Given the description of an element on the screen output the (x, y) to click on. 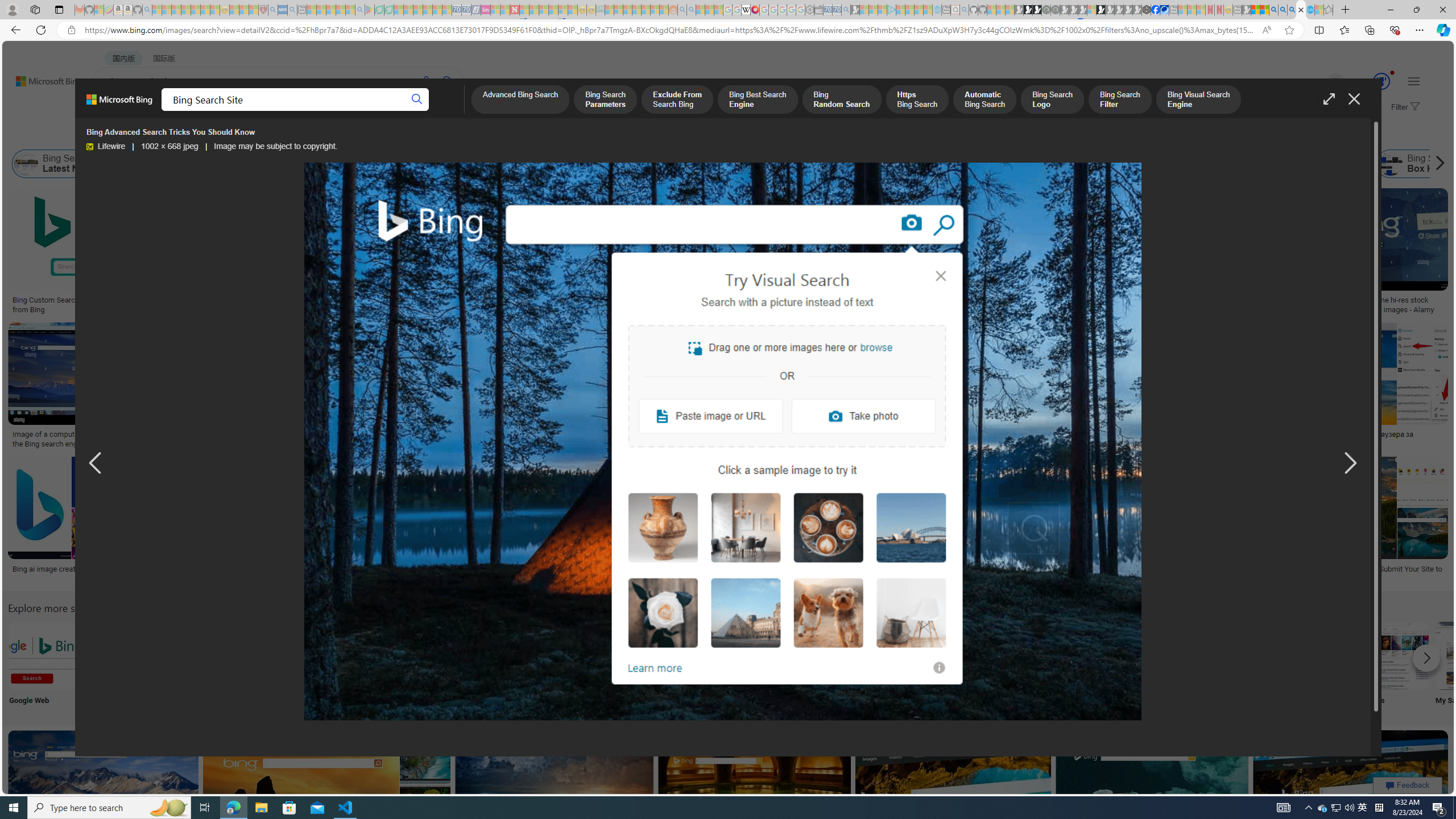
20 Reasons to Search With Bing | PCMag (648, 299)
Search using voice (426, 80)
People (568, 665)
Top 10 Search engine | REALITYPOD - Part 3 (939, 434)
Bing Search Settings Settings (1243, 665)
Bing Search Bar Install Bar Install (944, 665)
Bing as Search Engine (126, 163)
